Given the description of an element on the screen output the (x, y) to click on. 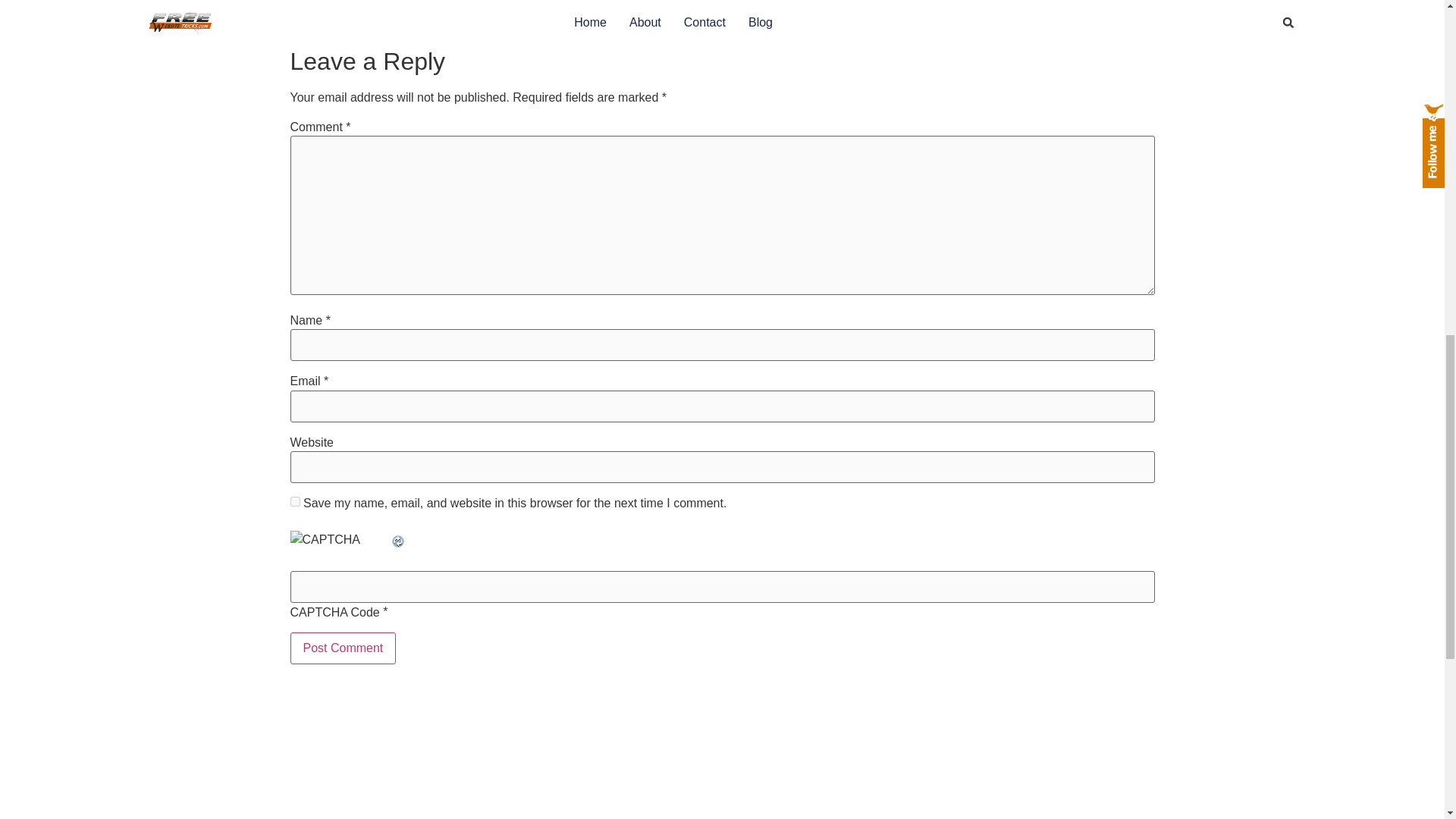
Post Comment (342, 648)
CAPTCHA (339, 546)
yes (294, 501)
Refresh (398, 539)
